Given the description of an element on the screen output the (x, y) to click on. 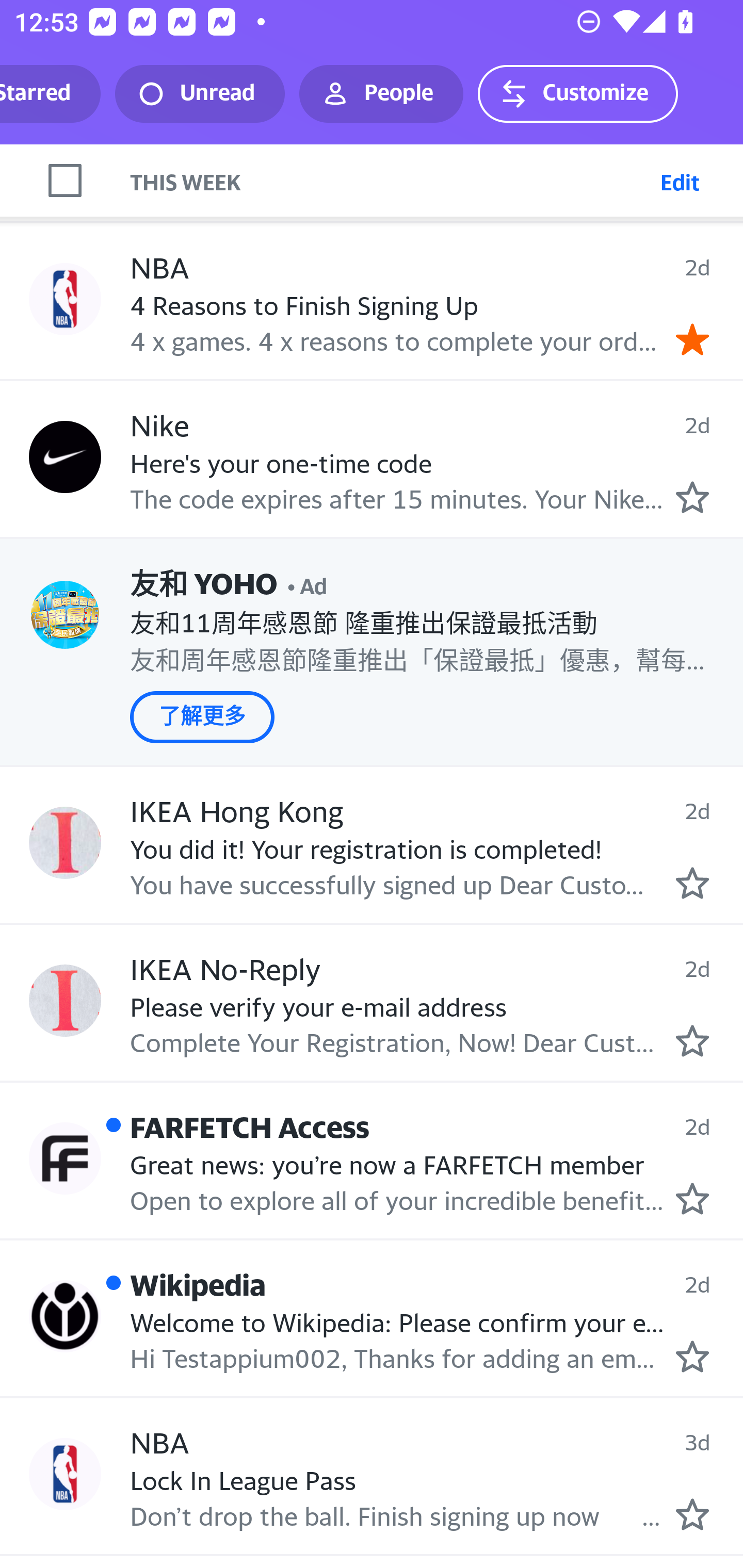
Unread (199, 93)
People (381, 93)
Customize (577, 93)
Profile
NBA (64, 299)
Remove star. (692, 339)
Profile
Nike (64, 456)
Mark as starred. (692, 497)
Profile
IKEA Hong Kong (64, 842)
Mark as starred. (692, 883)
Profile
IKEA No-Reply (64, 1000)
Mark as starred. (692, 1040)
Profile
FARFETCH Access (64, 1158)
Mark as starred. (692, 1198)
Profile
Wikipedia (64, 1315)
Mark as starred. (692, 1357)
Profile
NBA (64, 1473)
Mark as starred. (692, 1513)
